Given the description of an element on the screen output the (x, y) to click on. 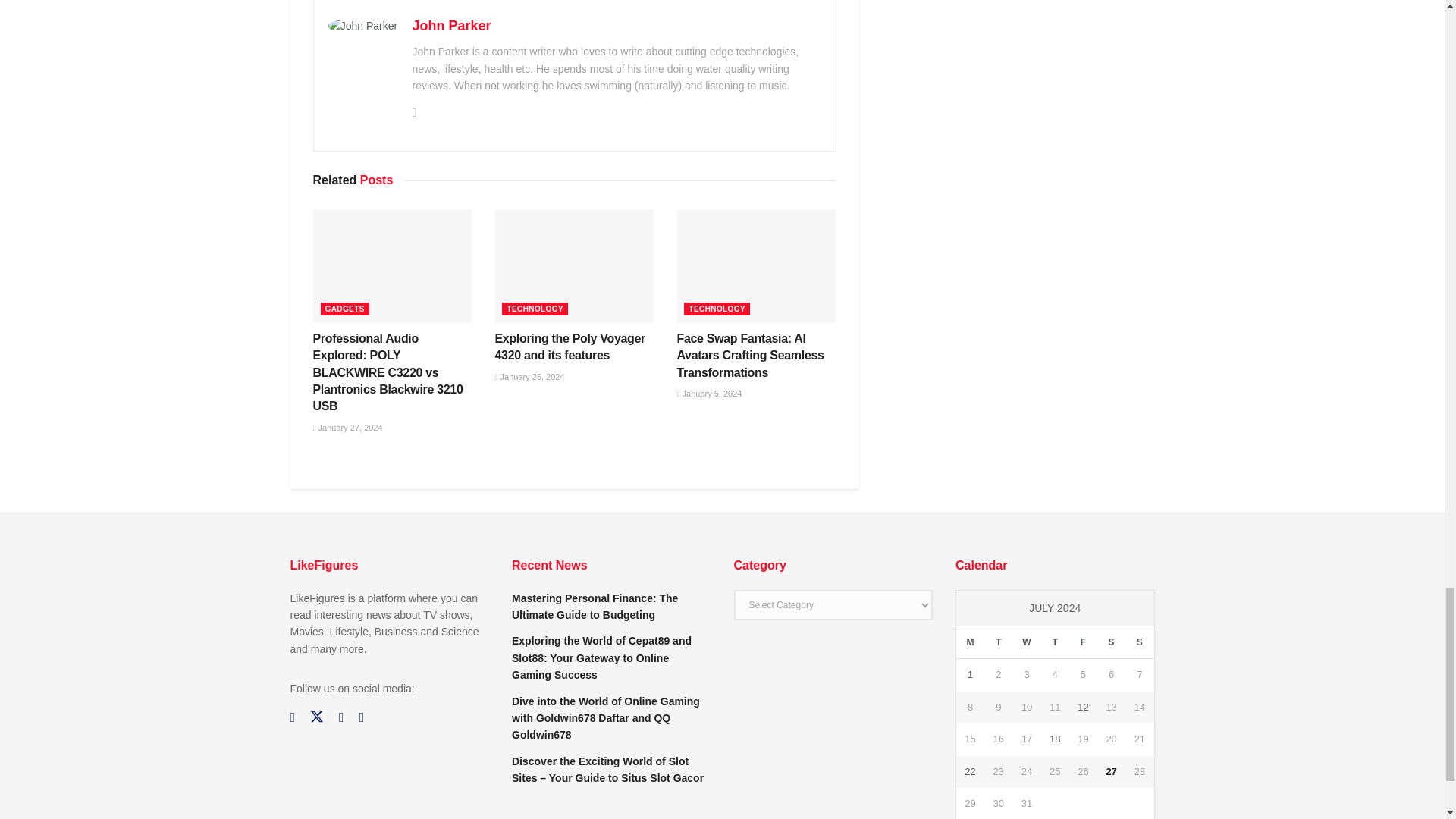
Sunday (1139, 642)
Thursday (1054, 642)
Monday (970, 642)
Wednesday (1026, 642)
Friday (1082, 642)
Tuesday (997, 642)
Saturday (1111, 642)
